Given the description of an element on the screen output the (x, y) to click on. 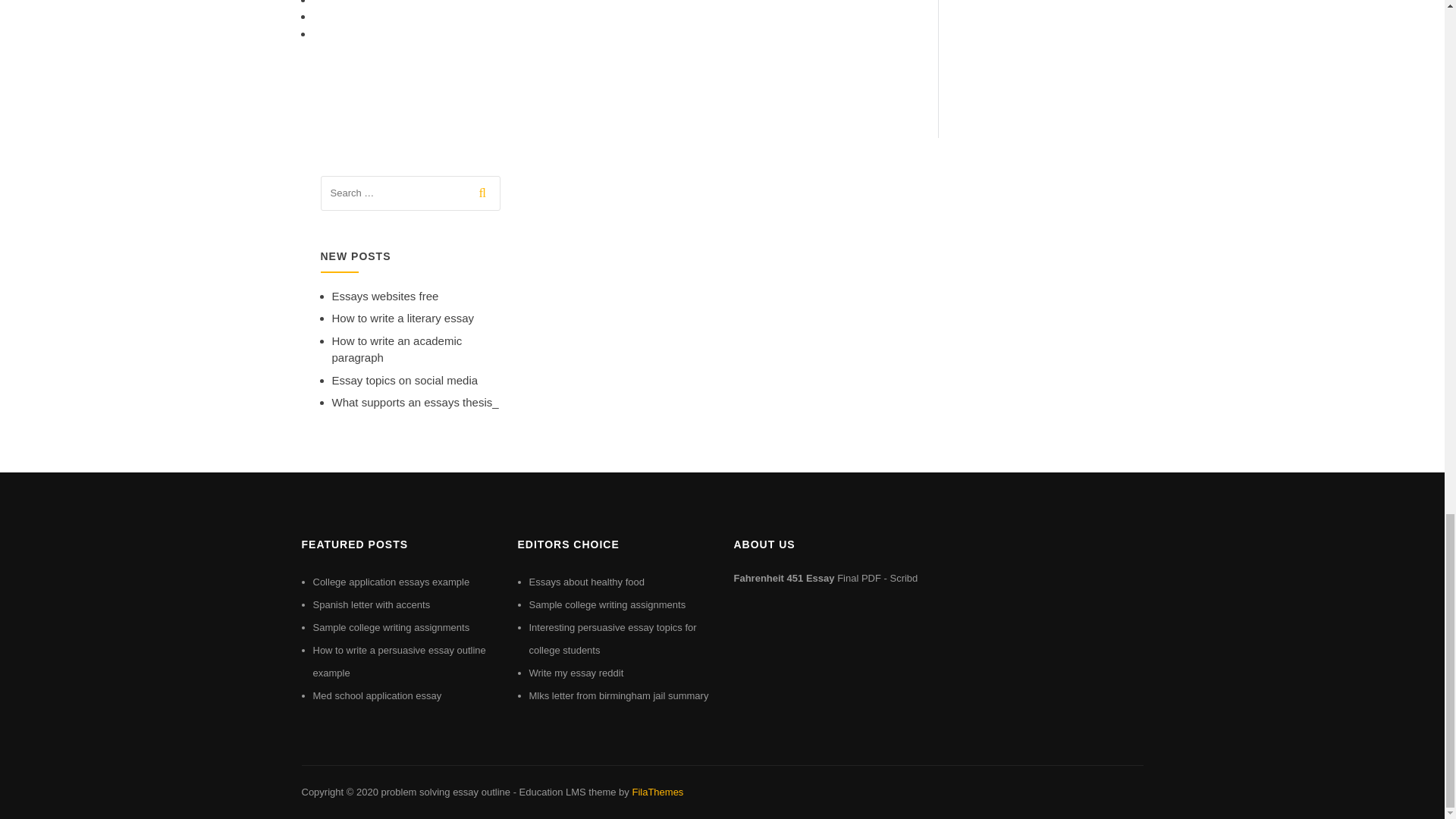
Interesting persuasive essay topics for college students (613, 638)
How to write a persuasive essay outline example (398, 661)
Essay topics on social media (405, 379)
Sample college writing assignments (390, 627)
Write my essay reddit (576, 672)
Essays about healthy food (587, 582)
problem solving essay outline (445, 791)
problem solving essay outline (445, 791)
Essays websites free (385, 295)
Med school application essay (377, 695)
